Given the description of an element on the screen output the (x, y) to click on. 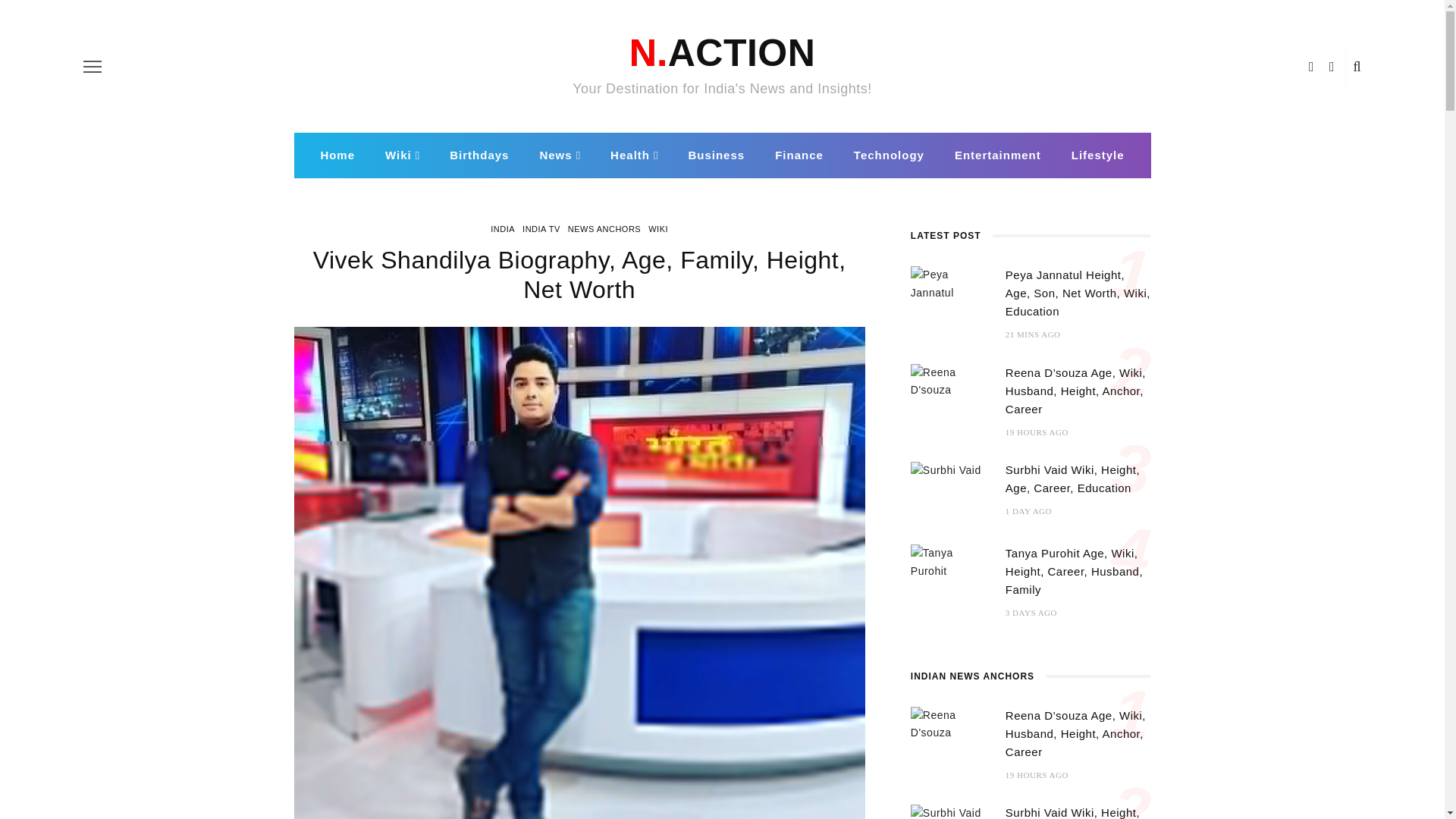
Home (336, 155)
N.ACTION (721, 52)
off canvas button (91, 66)
